Given the description of an element on the screen output the (x, y) to click on. 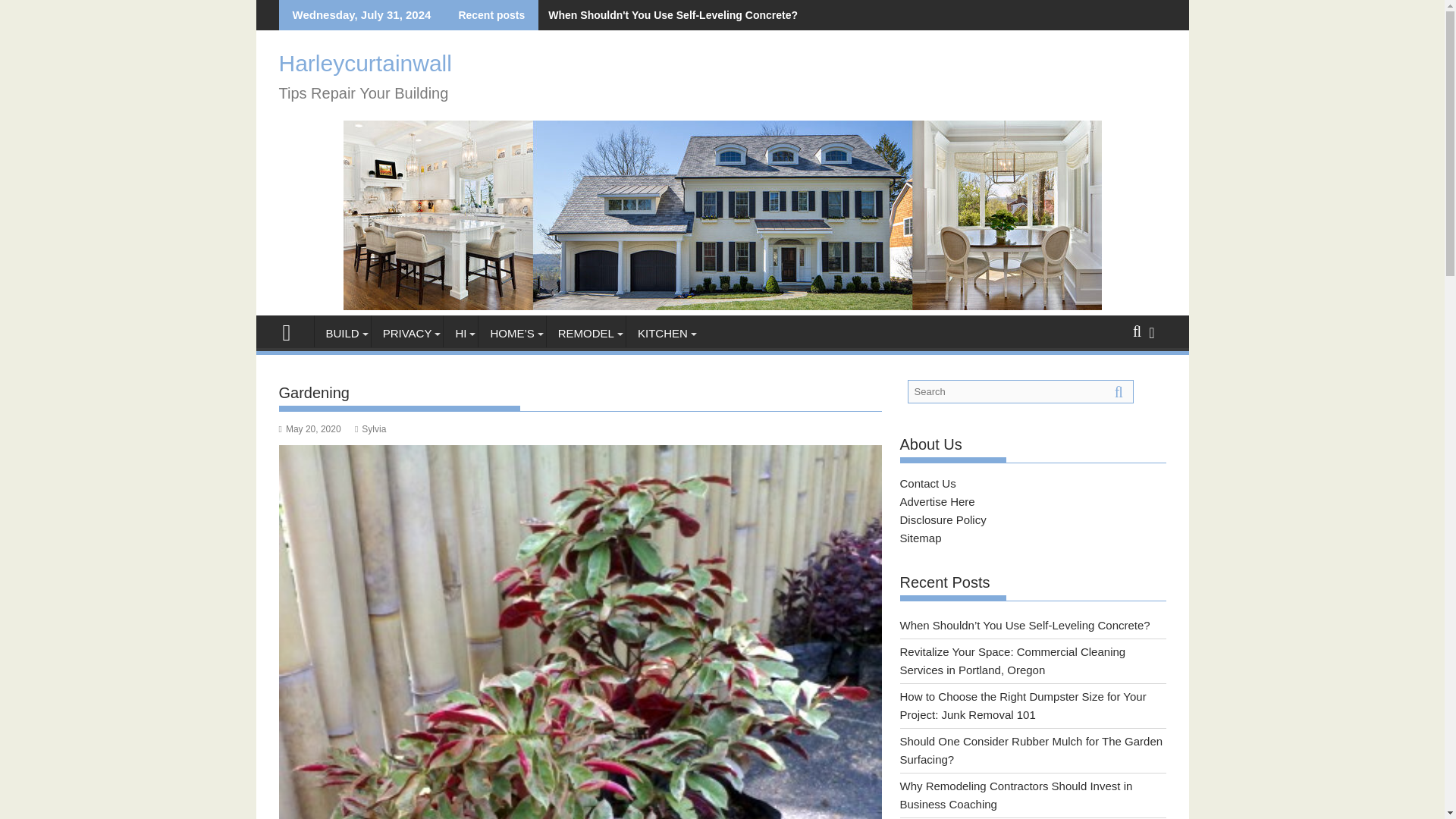
When Shouldn't You Use Self-Leveling Concrete?  (669, 15)
HI (460, 333)
PRIVACY (407, 333)
Harleycurtainwall (293, 331)
Harleycurtainwall (721, 305)
REMODEL (586, 333)
Harleycurtainwall (365, 63)
BUILD (341, 333)
KITCHEN (662, 333)
